Given the description of an element on the screen output the (x, y) to click on. 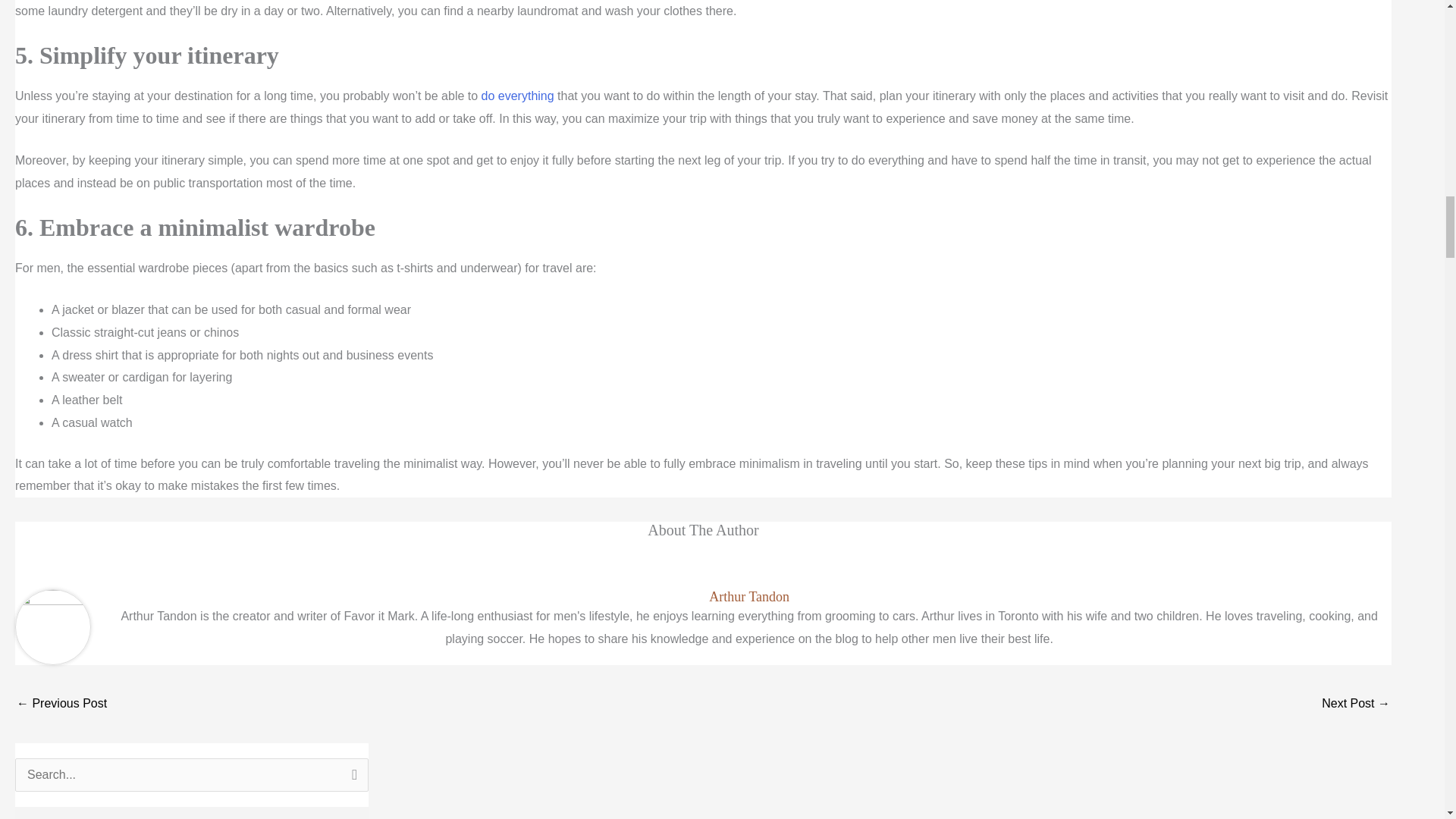
Arthur Tandon (748, 596)
do everything (517, 95)
Woodworking: A Potential Investment and Hobby for Life? (61, 705)
Men and Cars: Which Models Are the Best for Men? (1356, 705)
